Given the description of an element on the screen output the (x, y) to click on. 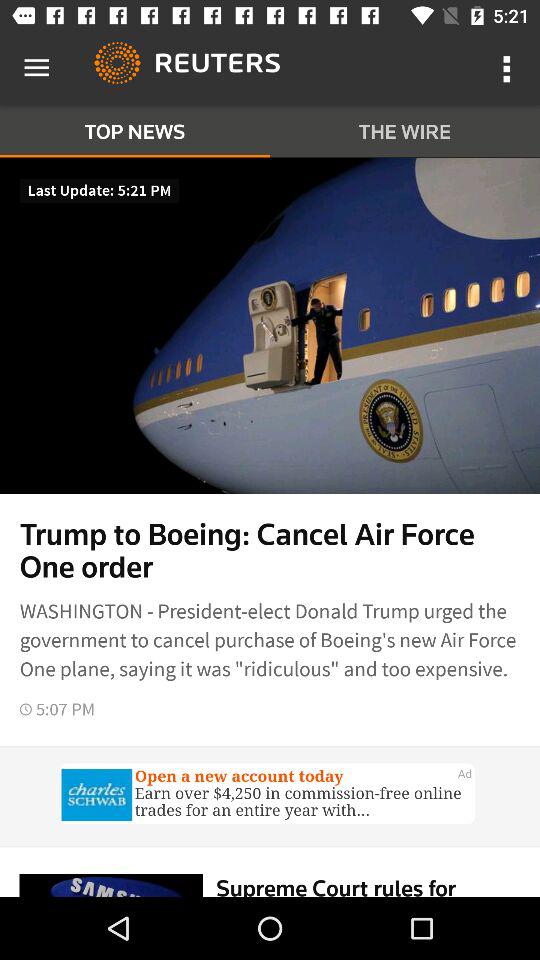
go to advertisements website (270, 796)
